Given the description of an element on the screen output the (x, y) to click on. 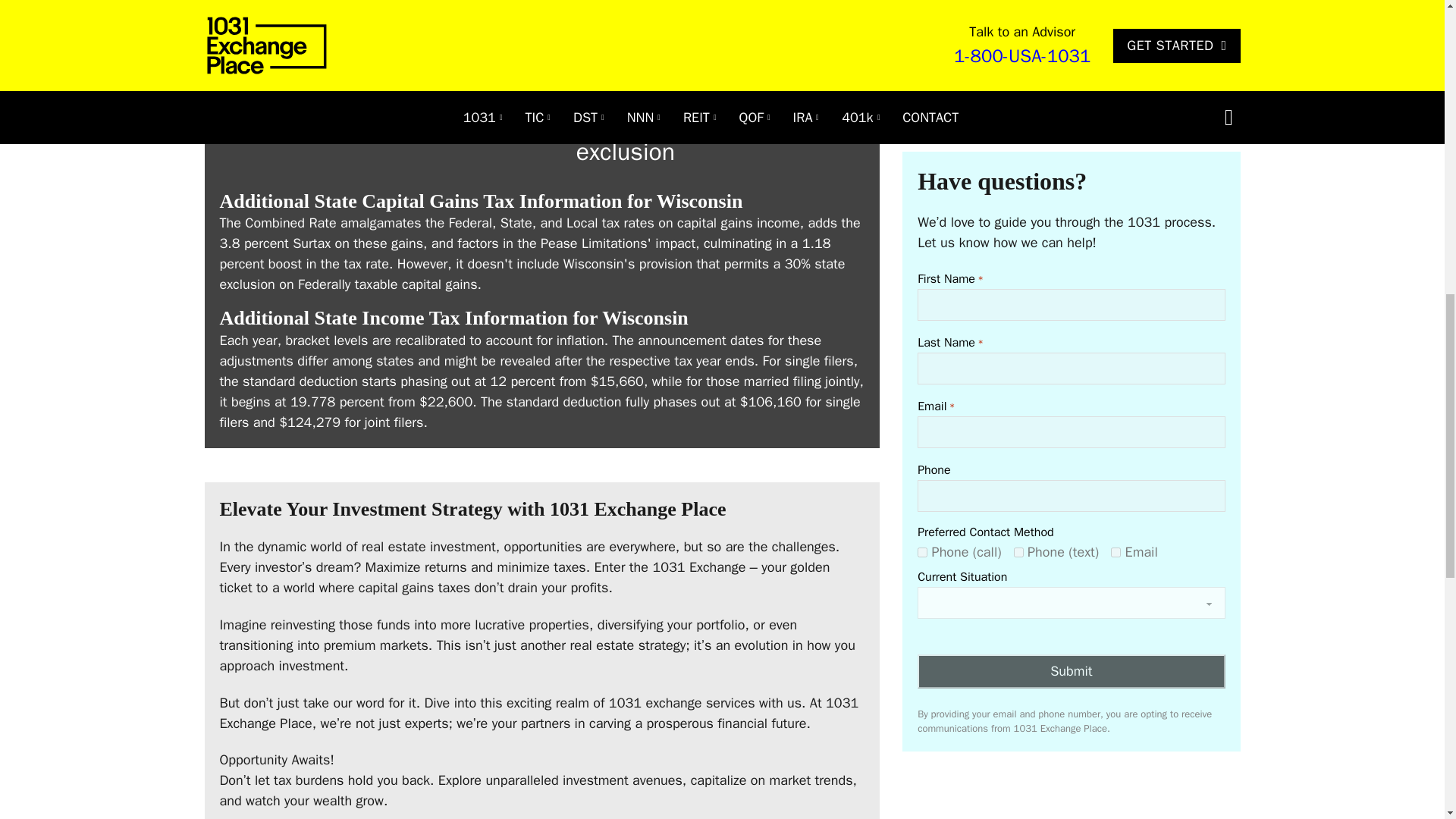
Email (1115, 528)
Submit (1070, 646)
